Given the description of an element on the screen output the (x, y) to click on. 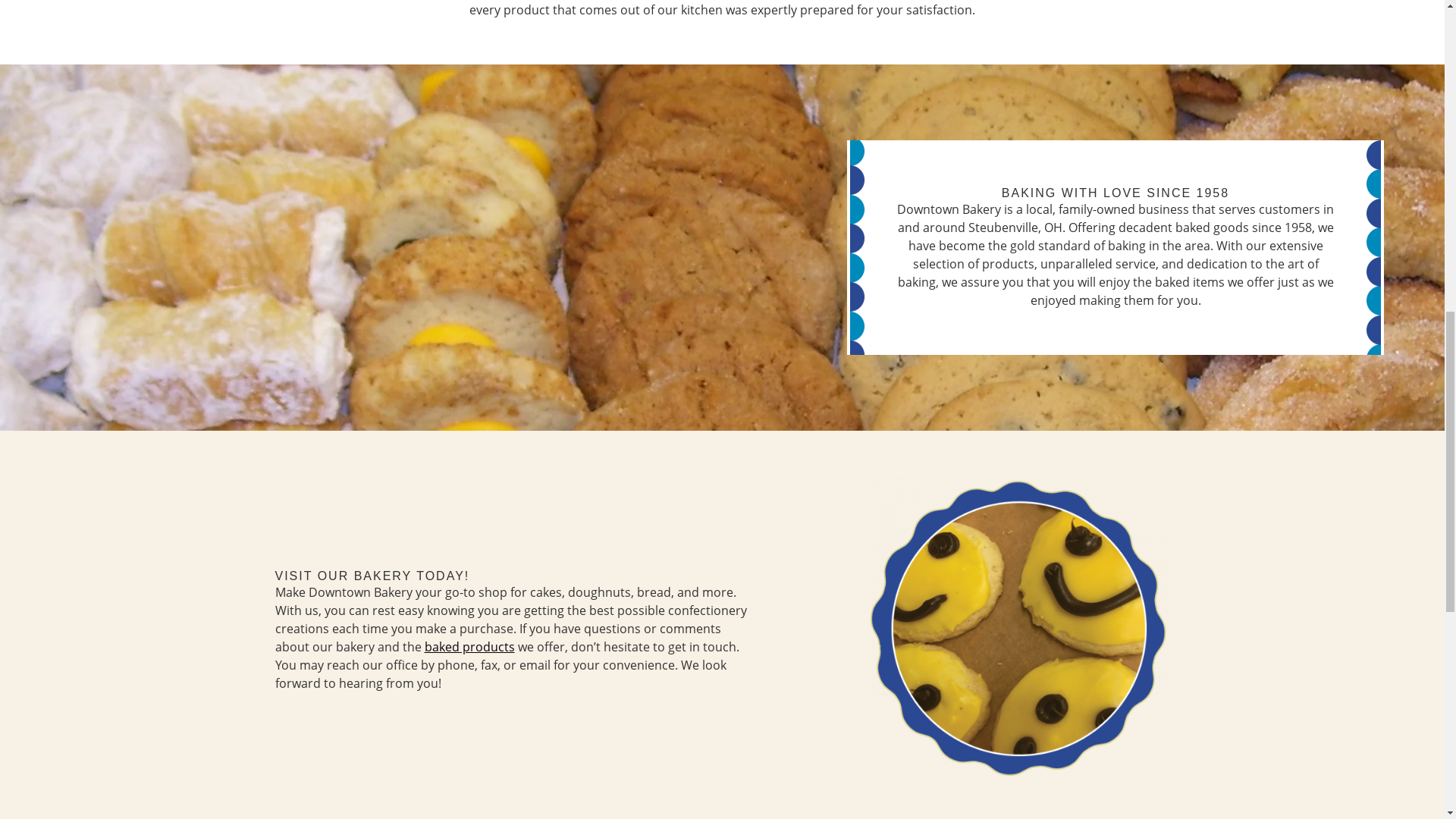
baked products (470, 646)
Smiley Face Cookies (1017, 627)
